Given the description of an element on the screen output the (x, y) to click on. 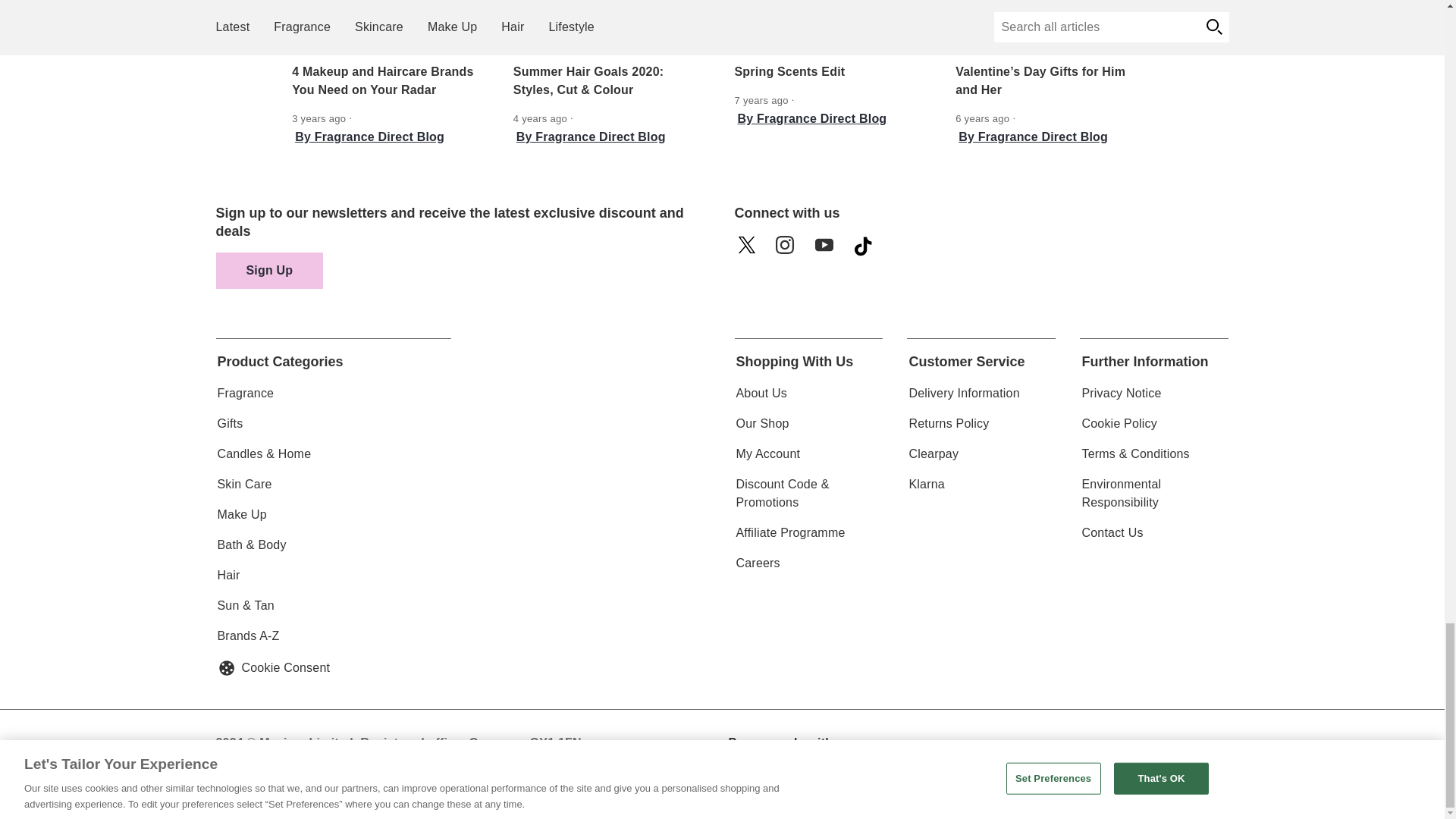
twitter (750, 250)
instagram (789, 250)
youtube (828, 250)
tiktok (868, 250)
